Given the description of an element on the screen output the (x, y) to click on. 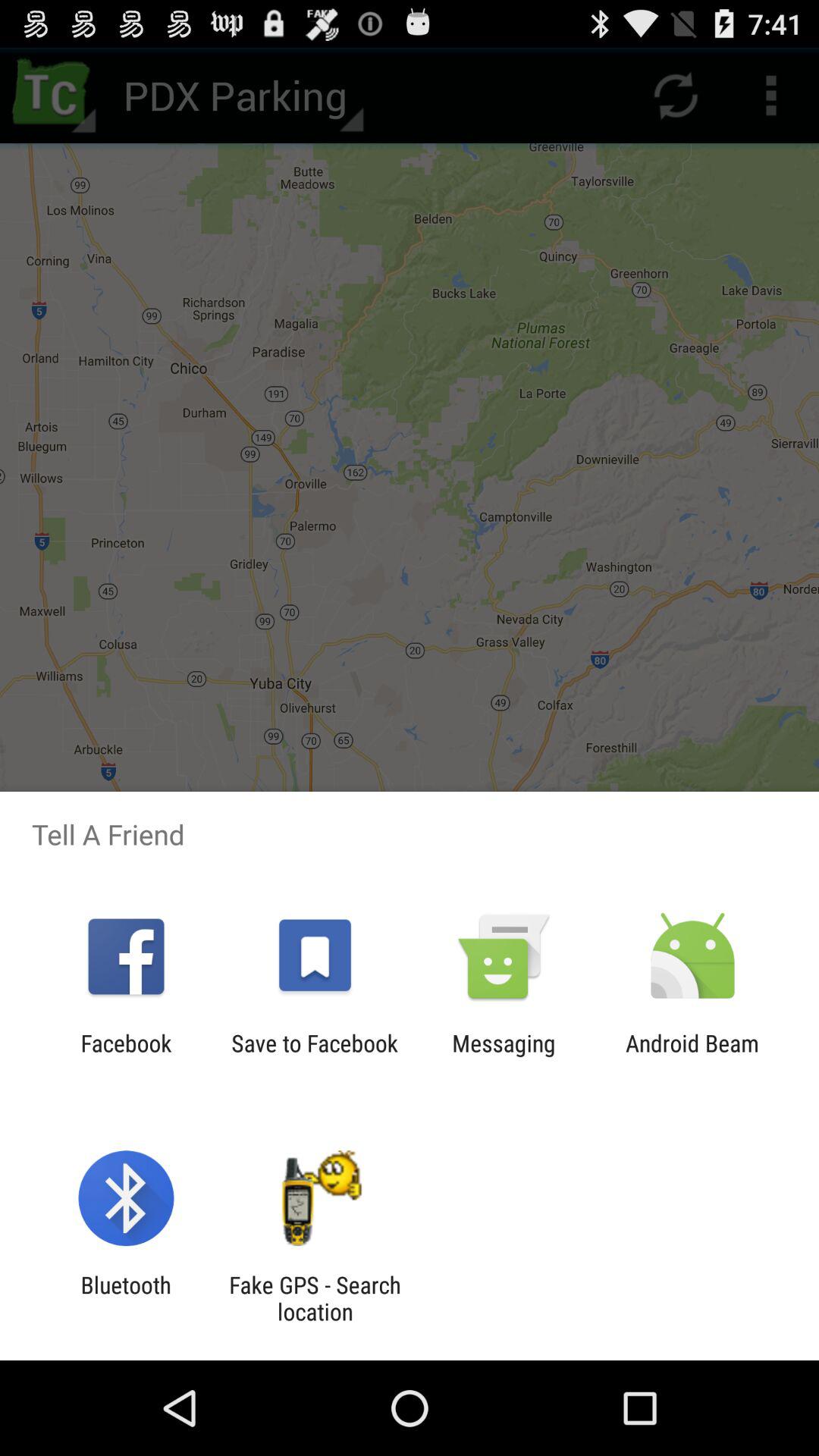
press the app to the right of the save to facebook app (503, 1056)
